Given the description of an element on the screen output the (x, y) to click on. 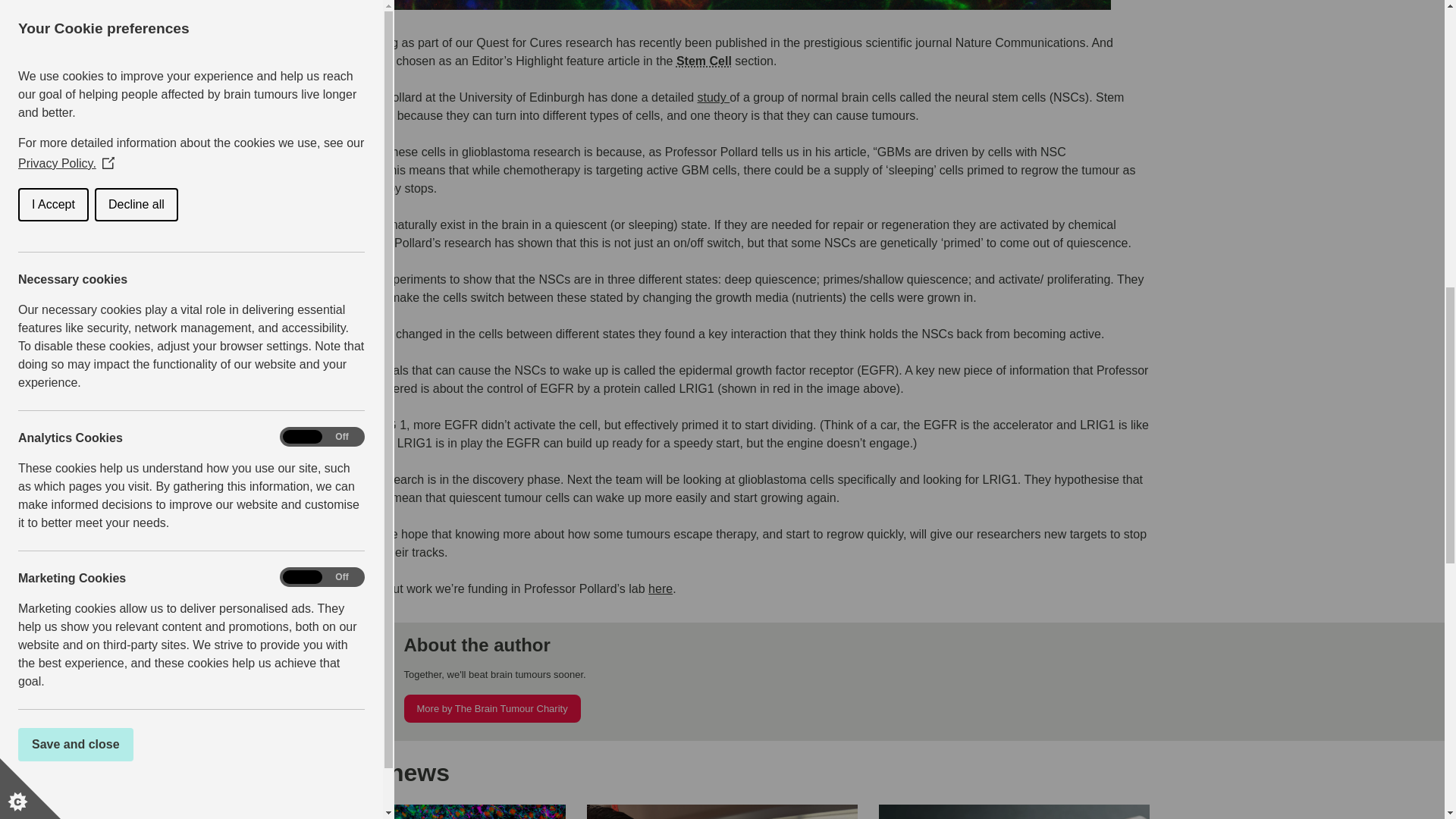
Professor Pollard's research grant (659, 588)
Nature communications article (713, 97)
